Given the description of an element on the screen output the (x, y) to click on. 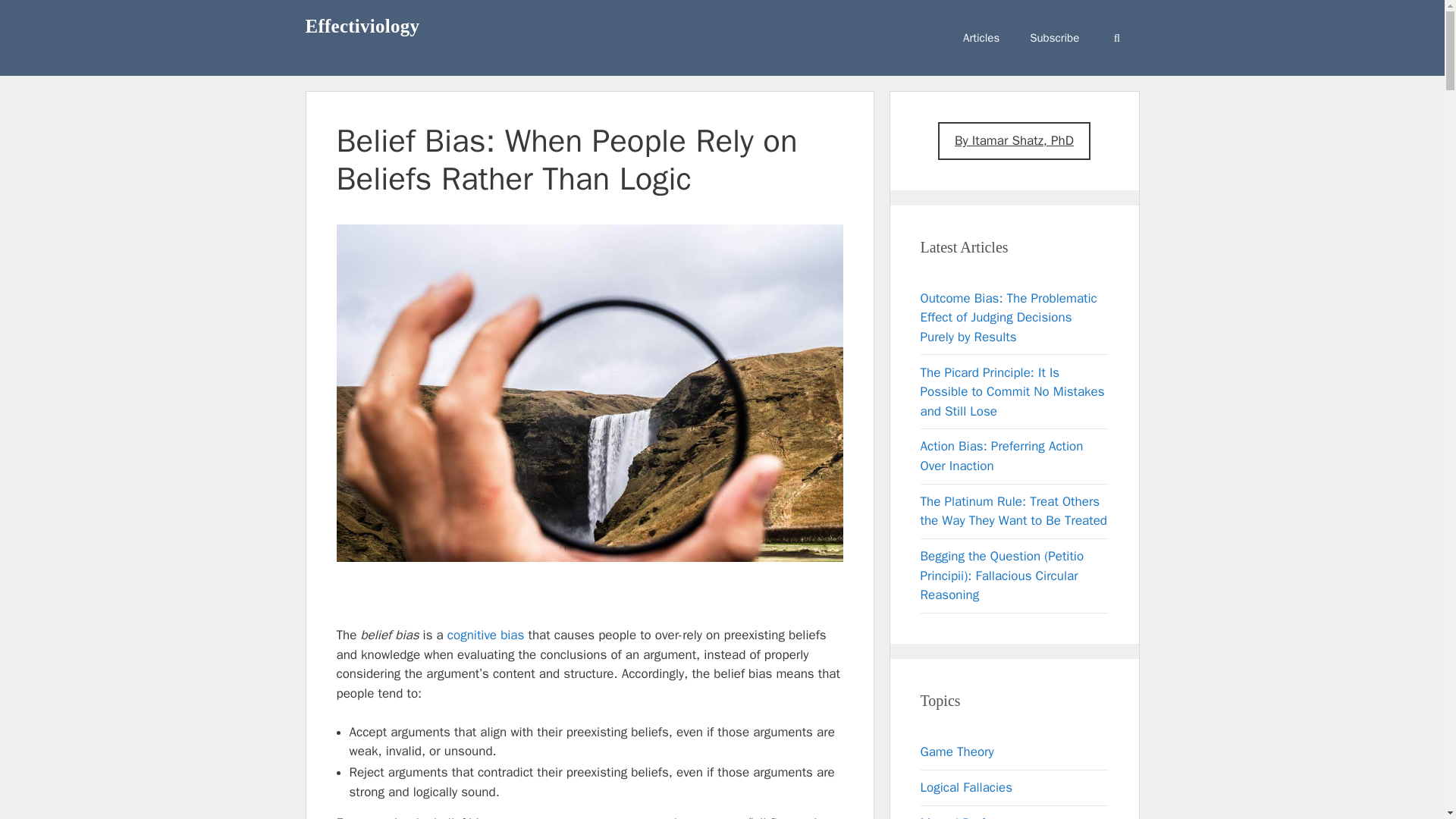
Subscribe (1054, 37)
Effectiviology (361, 25)
Articles (980, 37)
cognitive bias (485, 634)
